Given the description of an element on the screen output the (x, y) to click on. 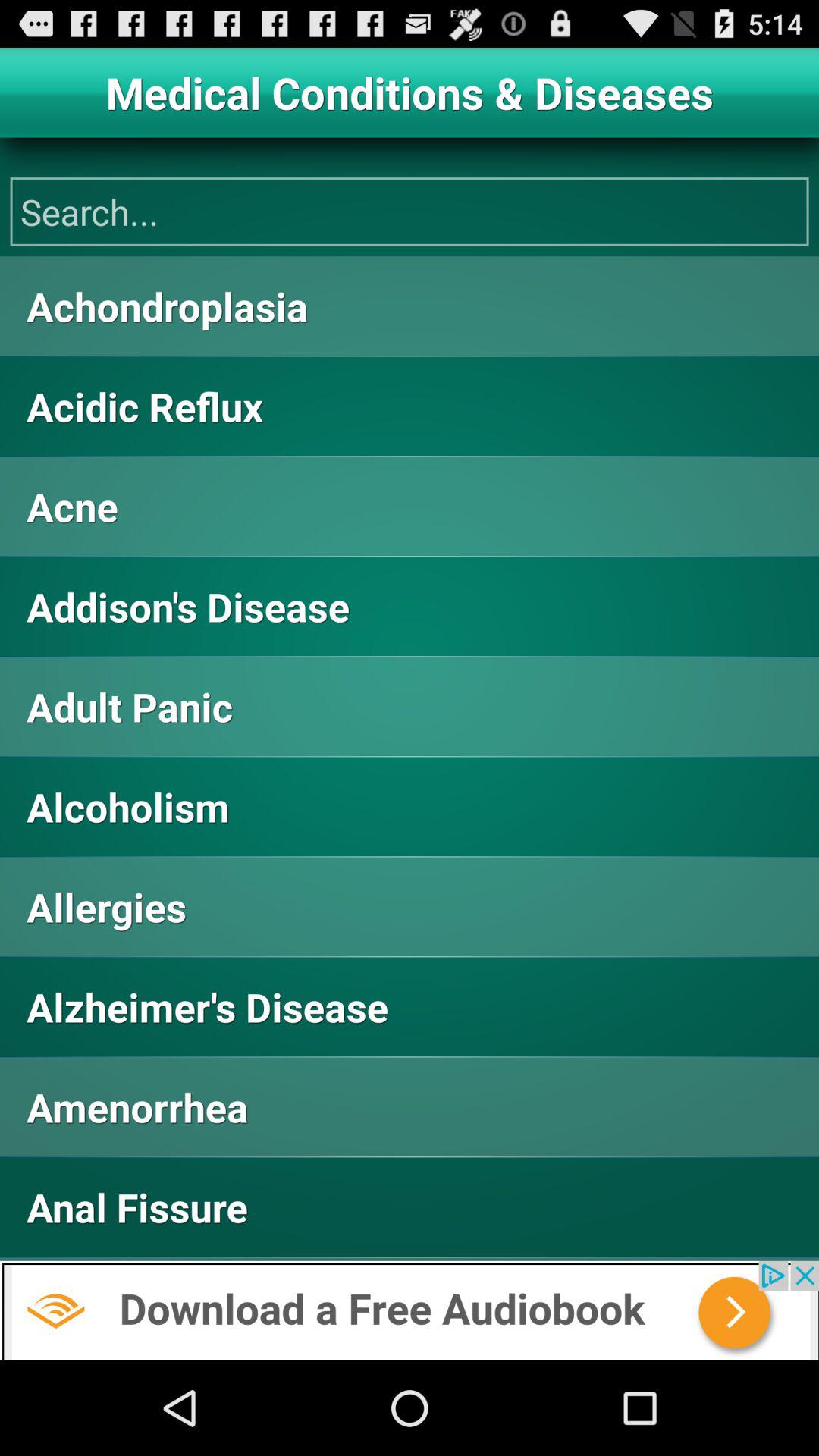
select the search button (409, 211)
